Given the description of an element on the screen output the (x, y) to click on. 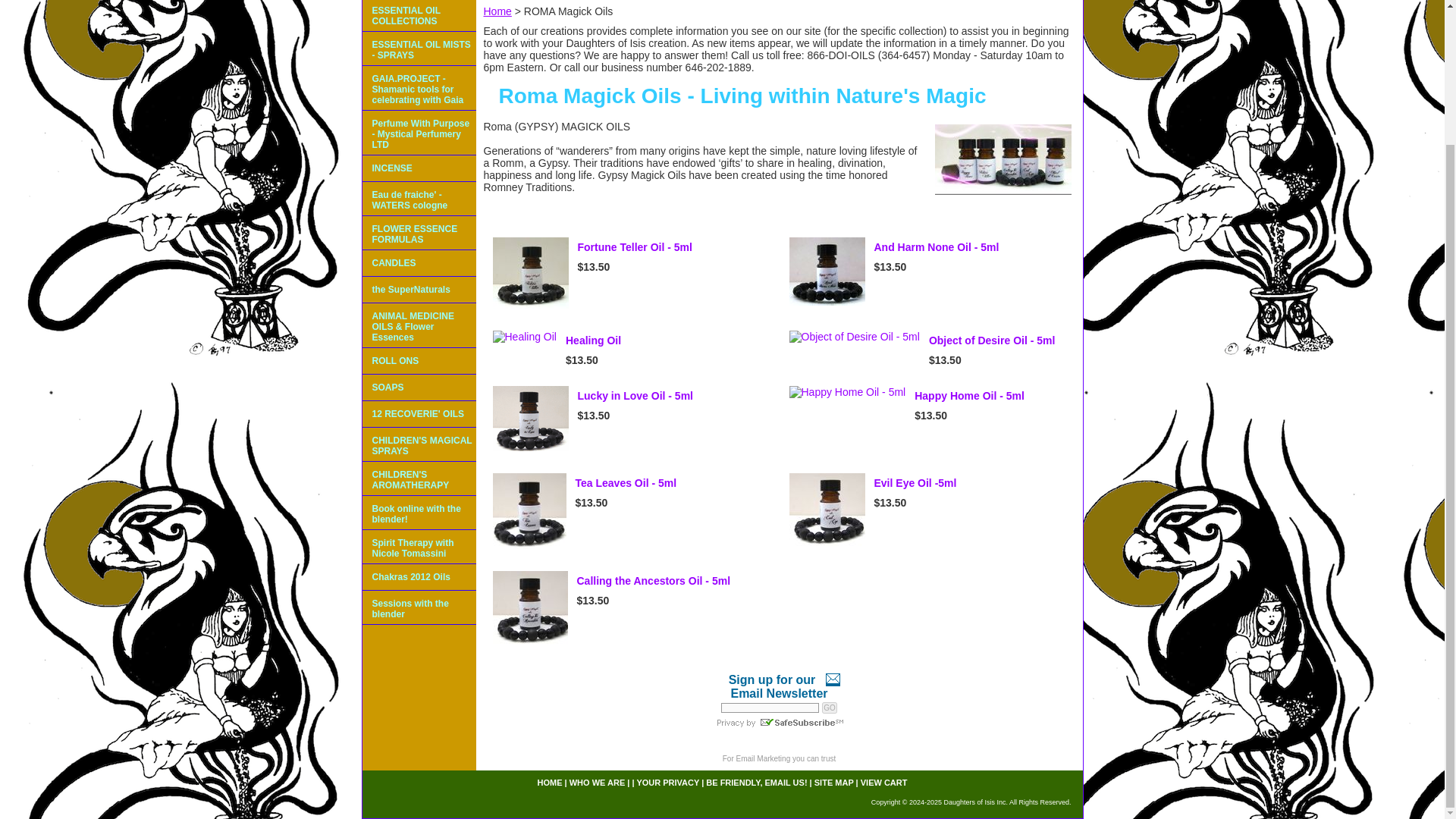
Object of Desire Oil - 5ml (991, 340)
Perfume With Purpose - Mystical Perfumery LTD (419, 132)
Calling the Ancestors Oil - 5ml (530, 608)
GO (829, 707)
Fortune Teller Oil - 5ml (635, 246)
FLOWER ESSENCE FORMULAS (419, 233)
Fortune Teller Oil - 5ml (531, 272)
Evil Eye Oil -5ml  (914, 482)
Calling the Ancestors Oil - 5ml (653, 580)
And Harm None Oil - 5ml (935, 246)
Home (497, 10)
CANDLES (419, 263)
Eau de fraiche' - WATERS cologne (419, 198)
Tea Leaves Oil - 5ml (529, 510)
INCENSE (419, 168)
